Given the description of an element on the screen output the (x, y) to click on. 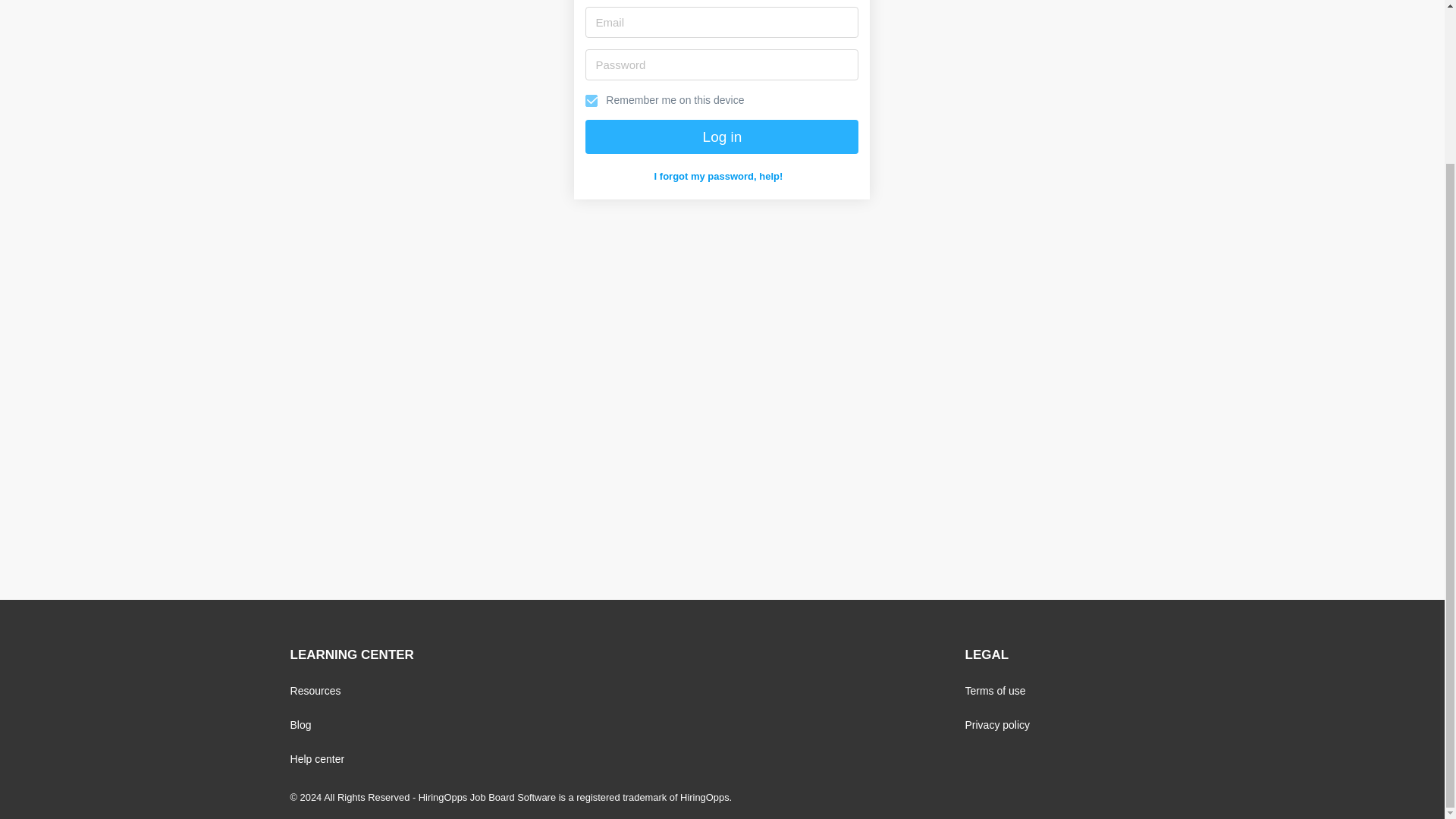
blog (300, 725)
Log in (722, 136)
terms of use (994, 690)
I forgot my password, help! (718, 176)
help center (316, 758)
privacy policy (996, 725)
resources (314, 690)
